Given the description of an element on the screen output the (x, y) to click on. 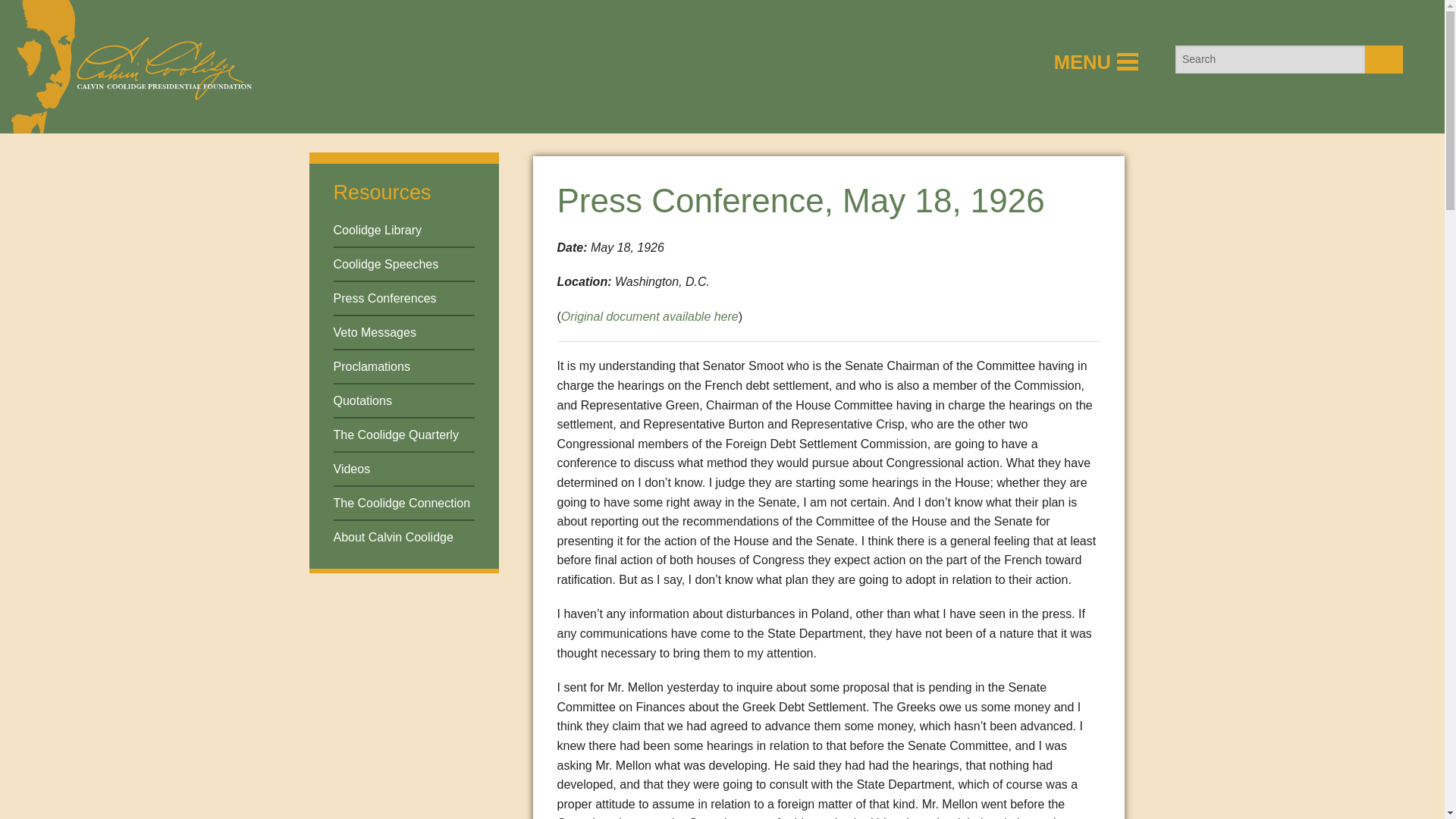
Proclamations (371, 366)
Videos (352, 468)
About Calvin Coolidge (392, 536)
The Coolidge Connection (401, 502)
Quotations (362, 400)
The Coolidge Quarterly (395, 434)
Coolidge Speeches (386, 264)
Search (1384, 59)
Original document available here (649, 316)
Press Conferences (384, 297)
Search (1384, 59)
Veto Messages (374, 332)
Coolidge Library (377, 229)
